Given the description of an element on the screen output the (x, y) to click on. 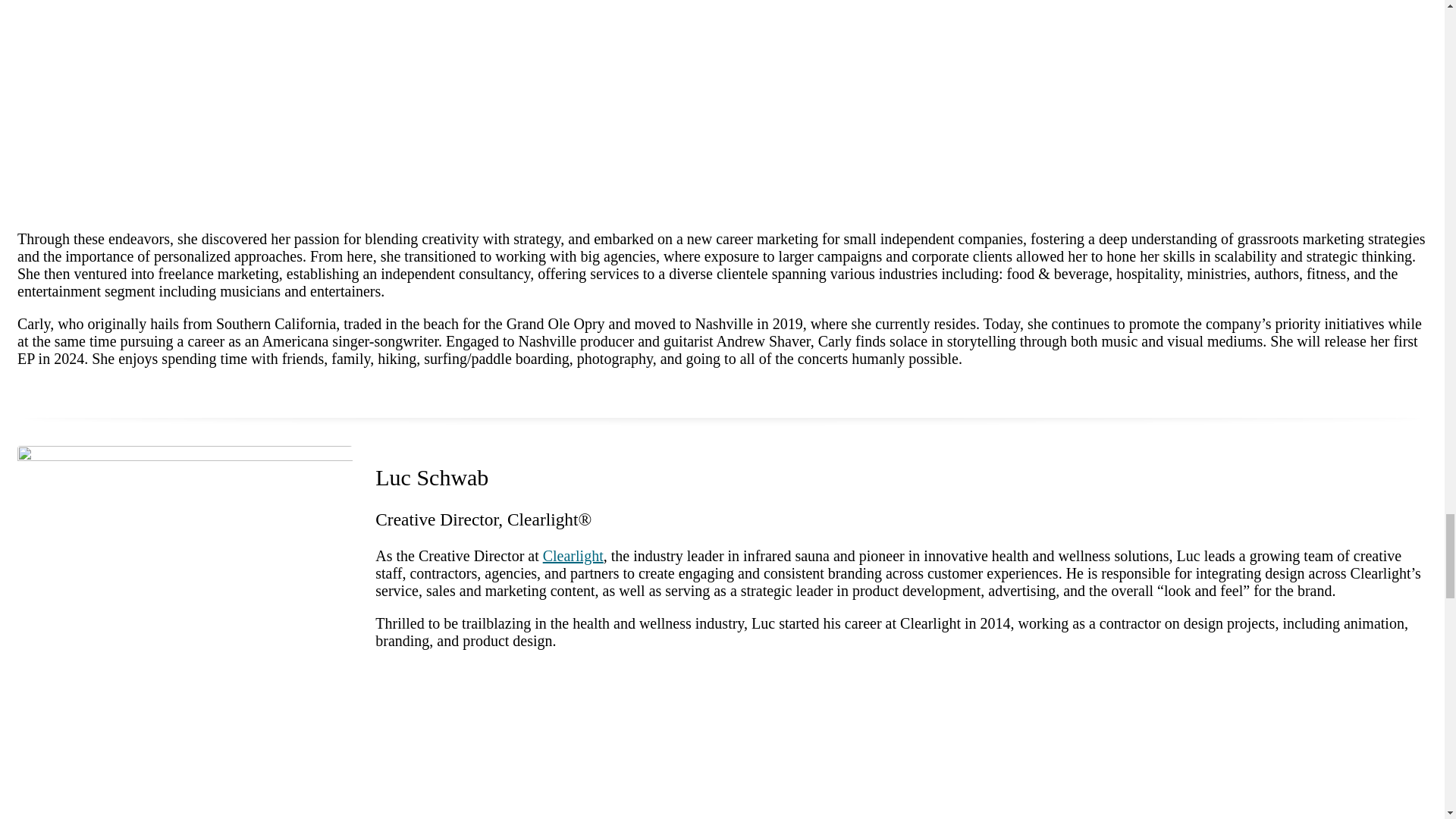
Clearlight (573, 555)
